Given the description of an element on the screen output the (x, y) to click on. 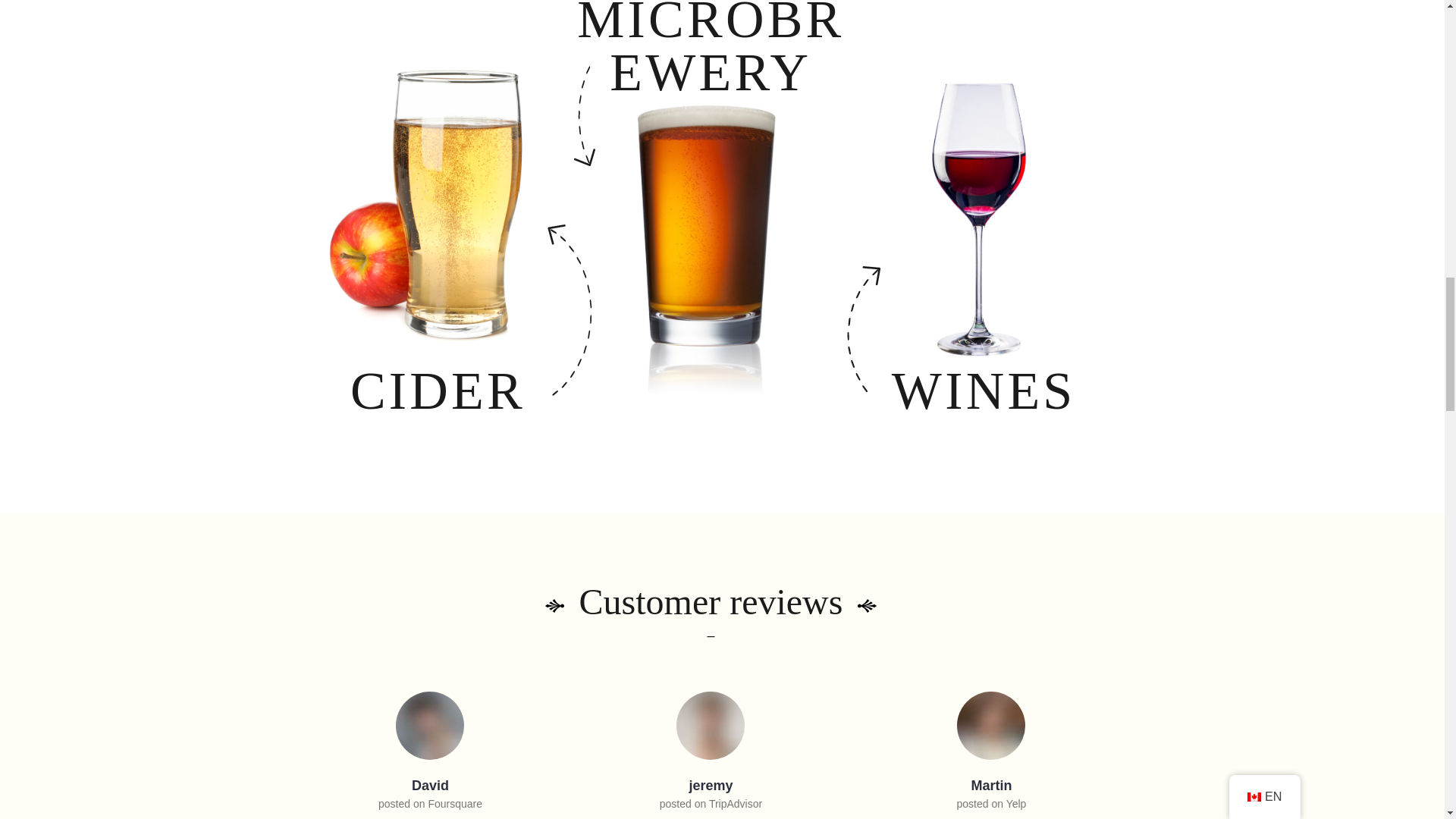
CIDER (437, 390)
WINES (983, 390)
MICROBREWERY (710, 49)
